Given the description of an element on the screen output the (x, y) to click on. 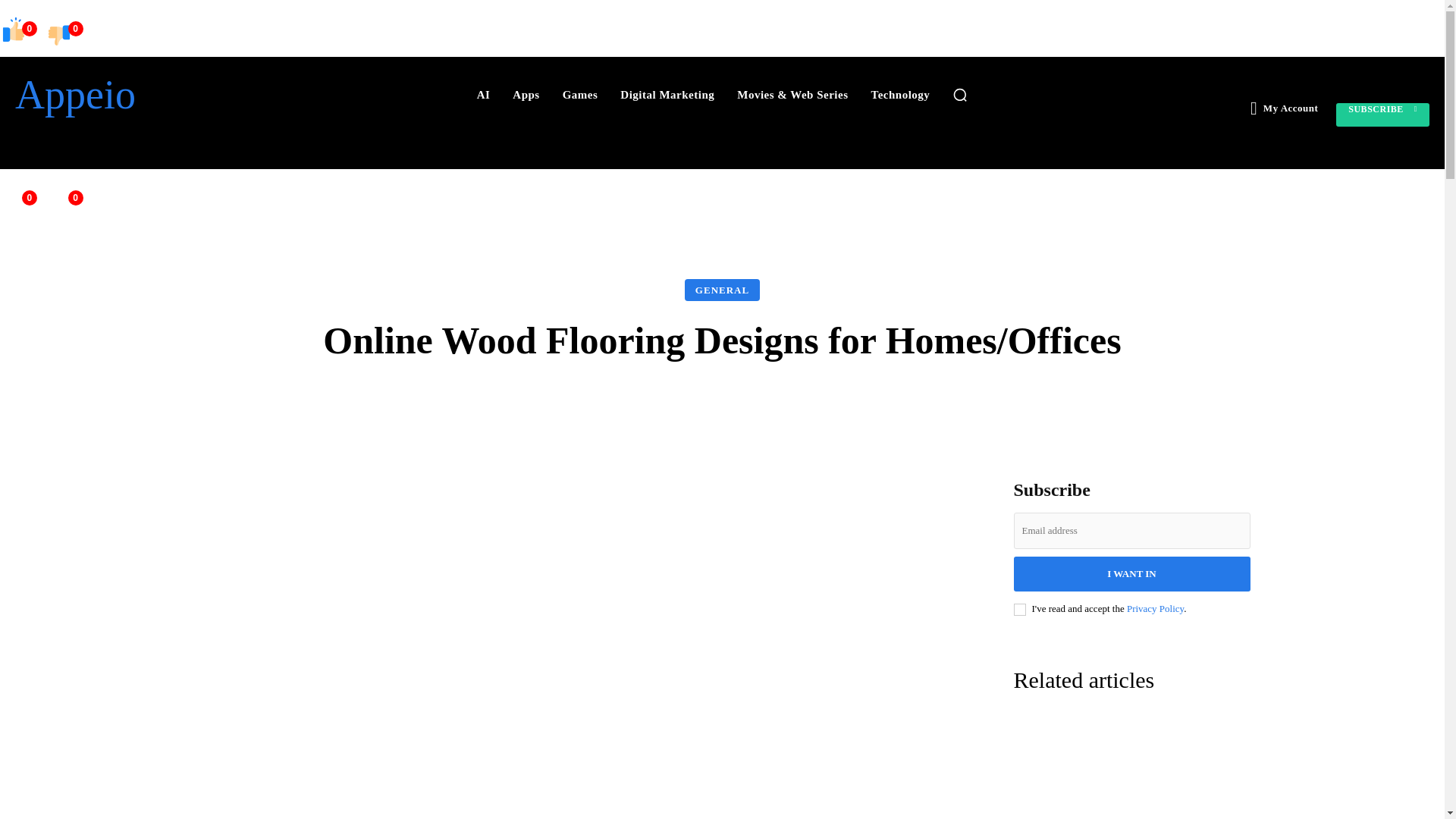
Appeio (127, 94)
Digital Marketing (667, 94)
Subscribe (1382, 114)
SUBSCRIBE (1382, 114)
Technology (900, 94)
Appeio (127, 94)
